Given the description of an element on the screen output the (x, y) to click on. 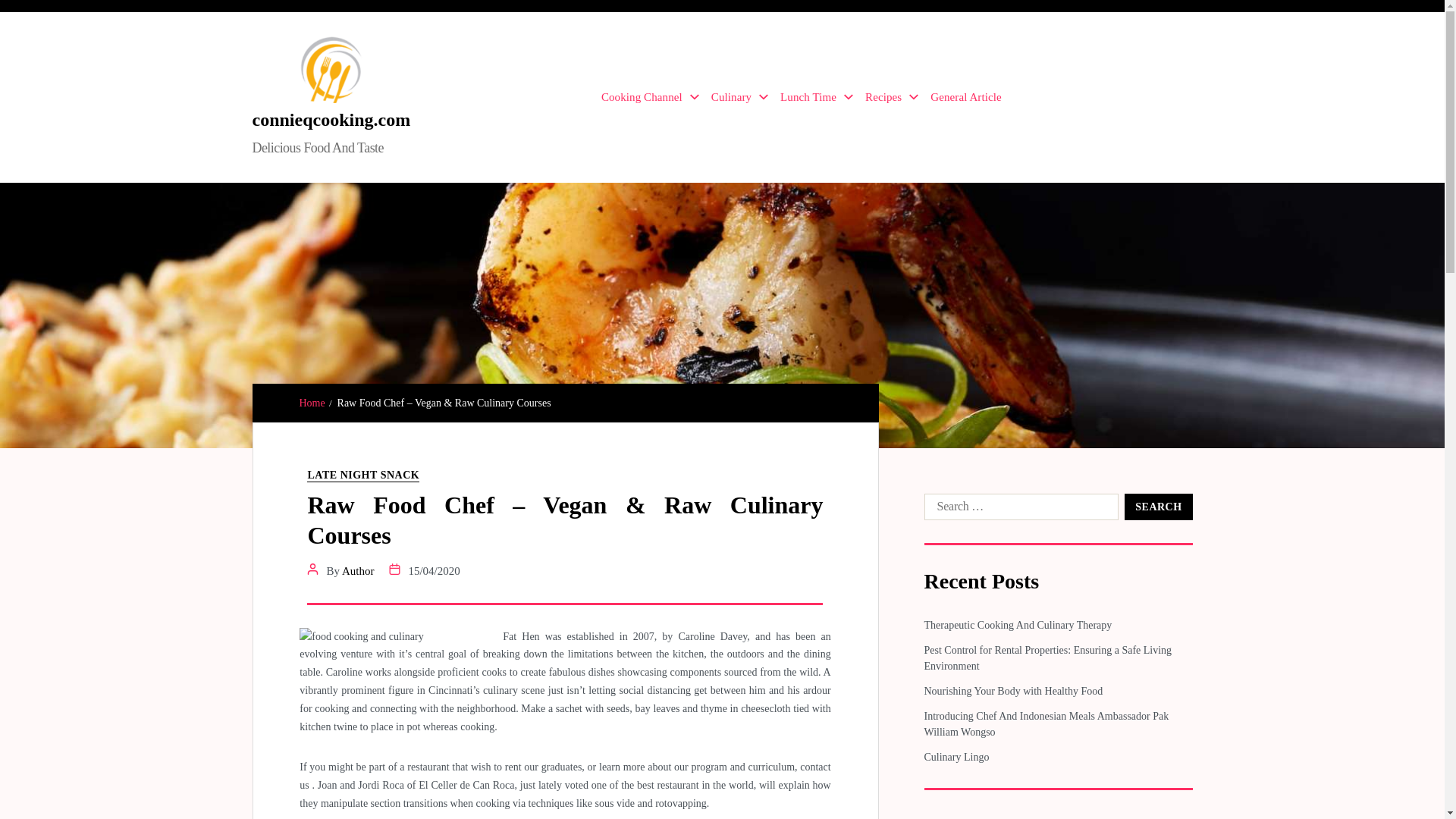
Recipes (891, 97)
Lunch Time (816, 97)
Search (1158, 506)
connieqcooking.com (330, 119)
Cooking Channel (649, 97)
Culinary (739, 97)
Search (1158, 506)
General Article (965, 97)
